Given the description of an element on the screen output the (x, y) to click on. 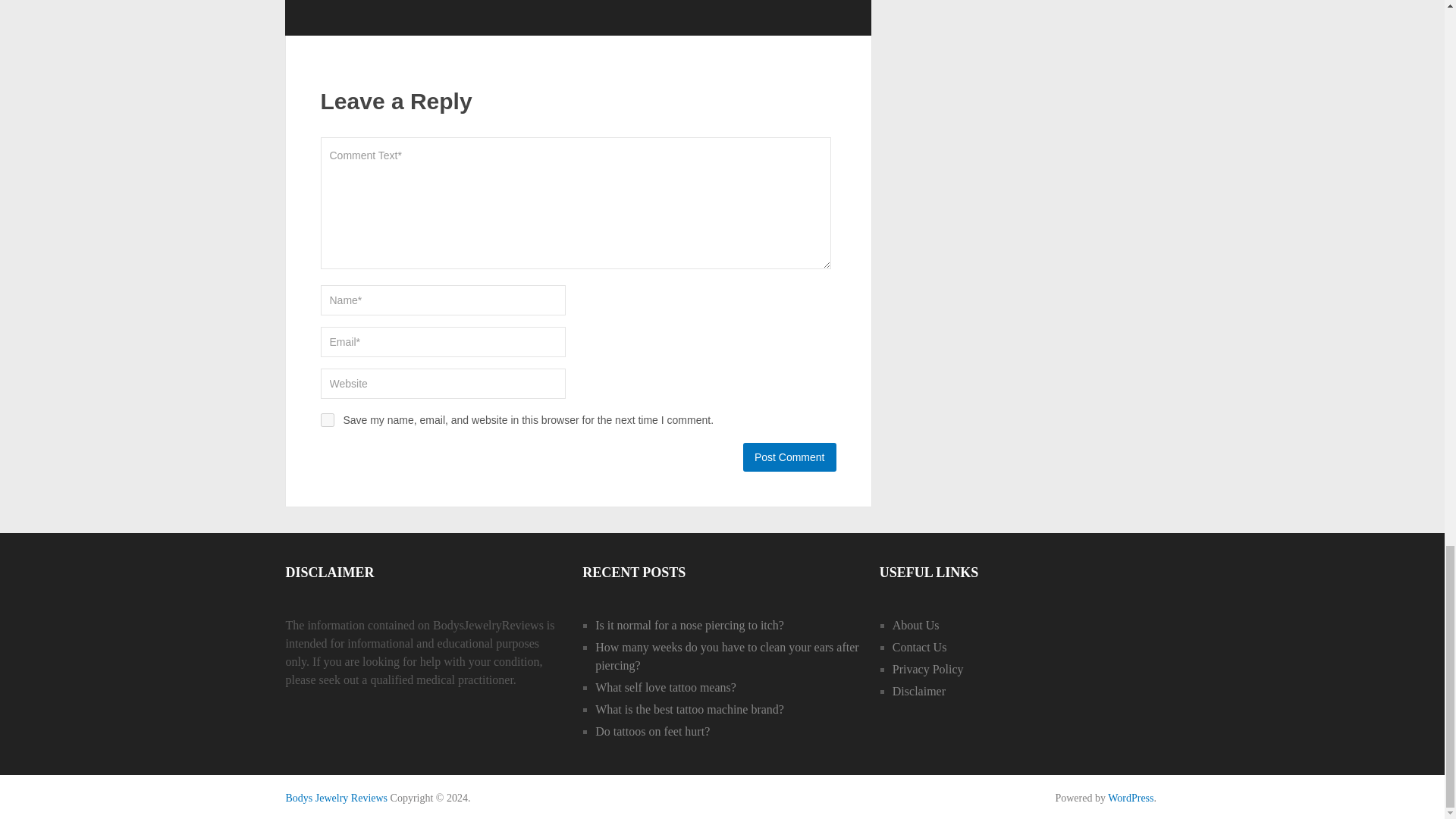
What self love tattoo means? (665, 686)
What is the best tattoo machine brand? (689, 708)
Post Comment (788, 457)
yes (326, 419)
Post Comment (788, 457)
Is it normal for a nose piercing to itch? (689, 625)
